Given the description of an element on the screen output the (x, y) to click on. 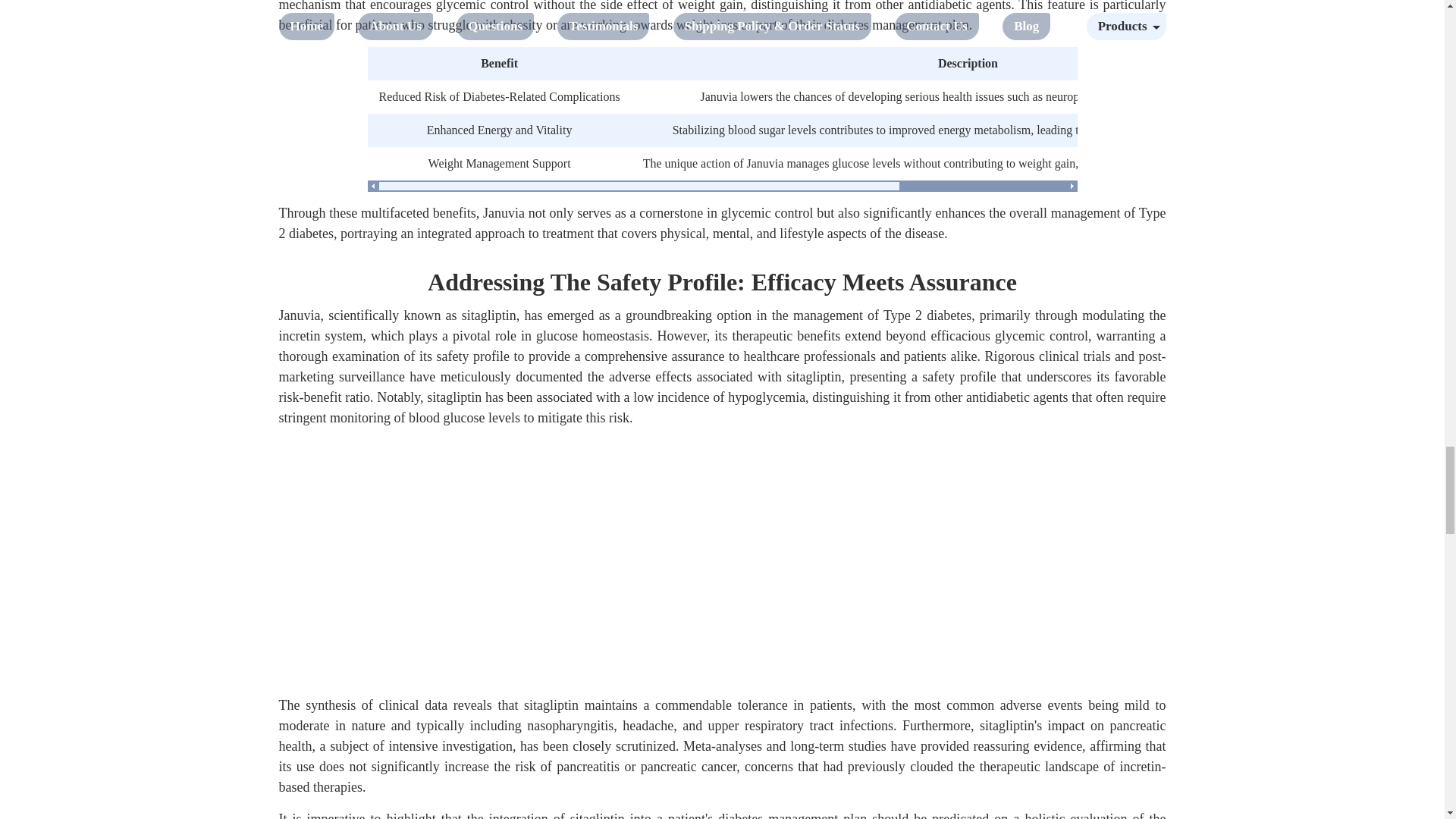
video (721, 562)
